Given the description of an element on the screen output the (x, y) to click on. 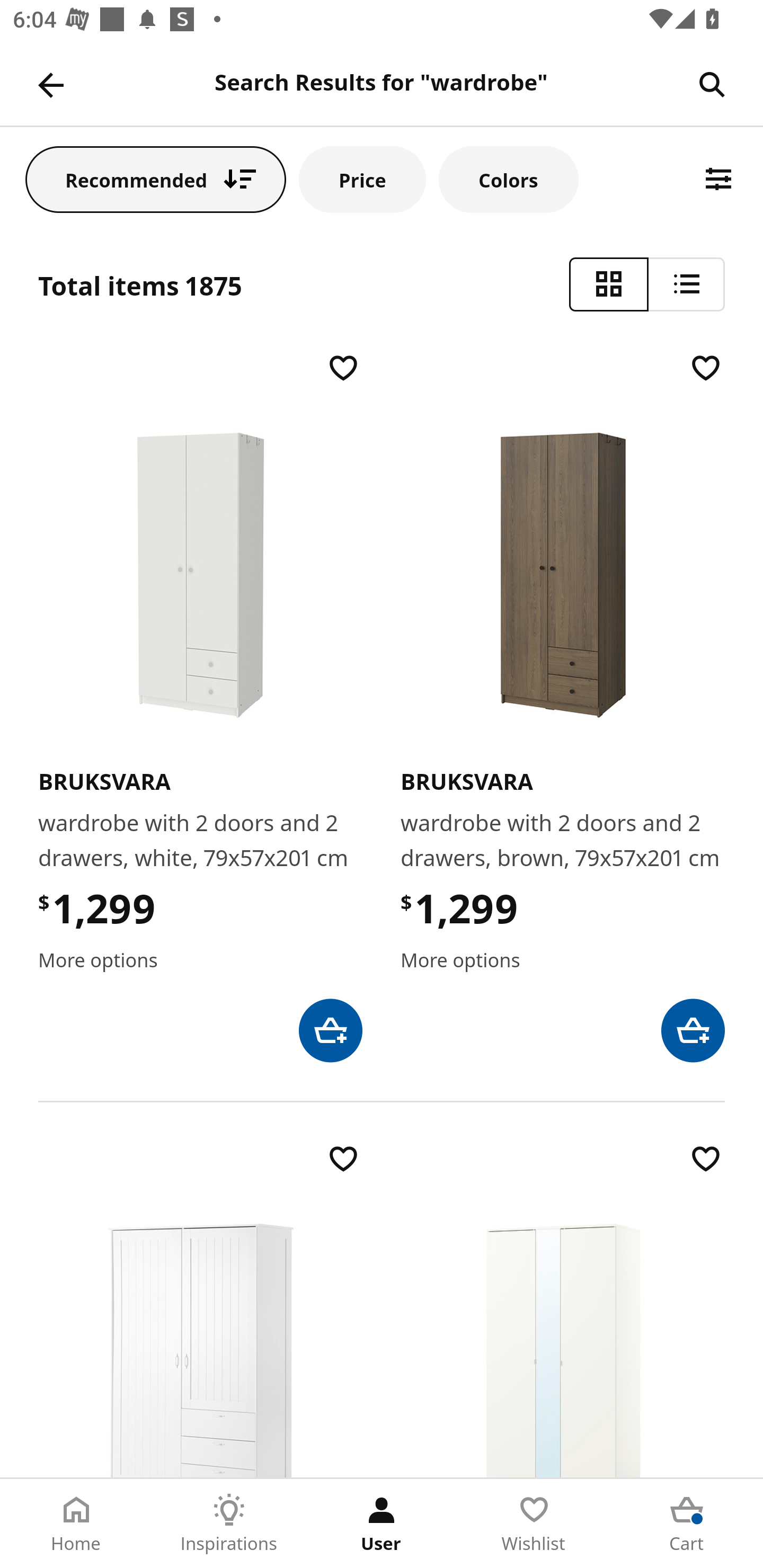
Recommended (155, 179)
Price (362, 179)
Colors (508, 179)
Home
Tab 1 of 5 (76, 1522)
Inspirations
Tab 2 of 5 (228, 1522)
User
Tab 3 of 5 (381, 1522)
Wishlist
Tab 4 of 5 (533, 1522)
Cart
Tab 5 of 5 (686, 1522)
